Given the description of an element on the screen output the (x, y) to click on. 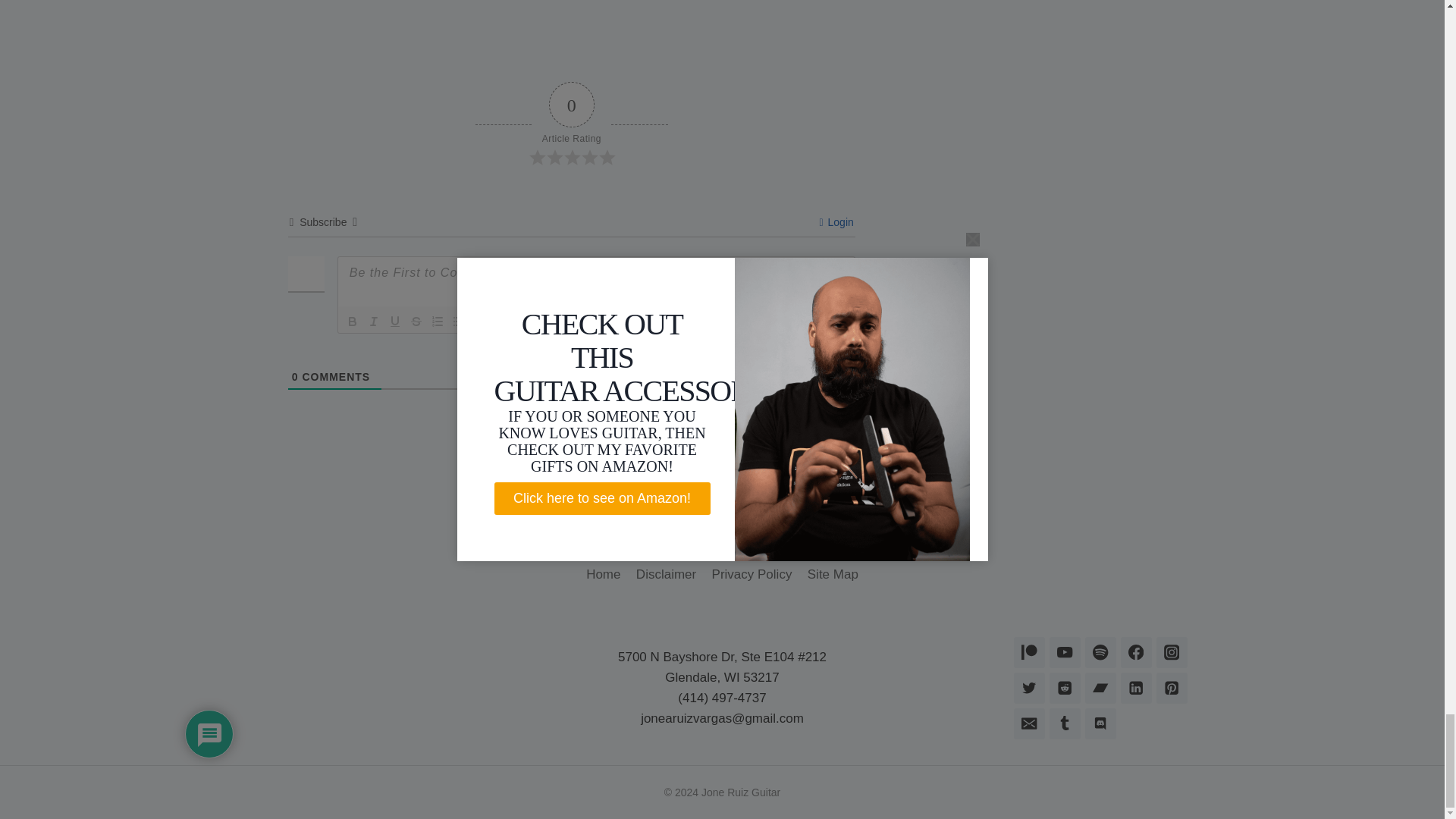
Code Block (501, 321)
Blockquote (479, 321)
Link (522, 321)
Strike (416, 321)
Underline (395, 321)
Ordered List (437, 321)
Bold (352, 321)
Unordered List (458, 321)
Italic (373, 321)
